Given the description of an element on the screen output the (x, y) to click on. 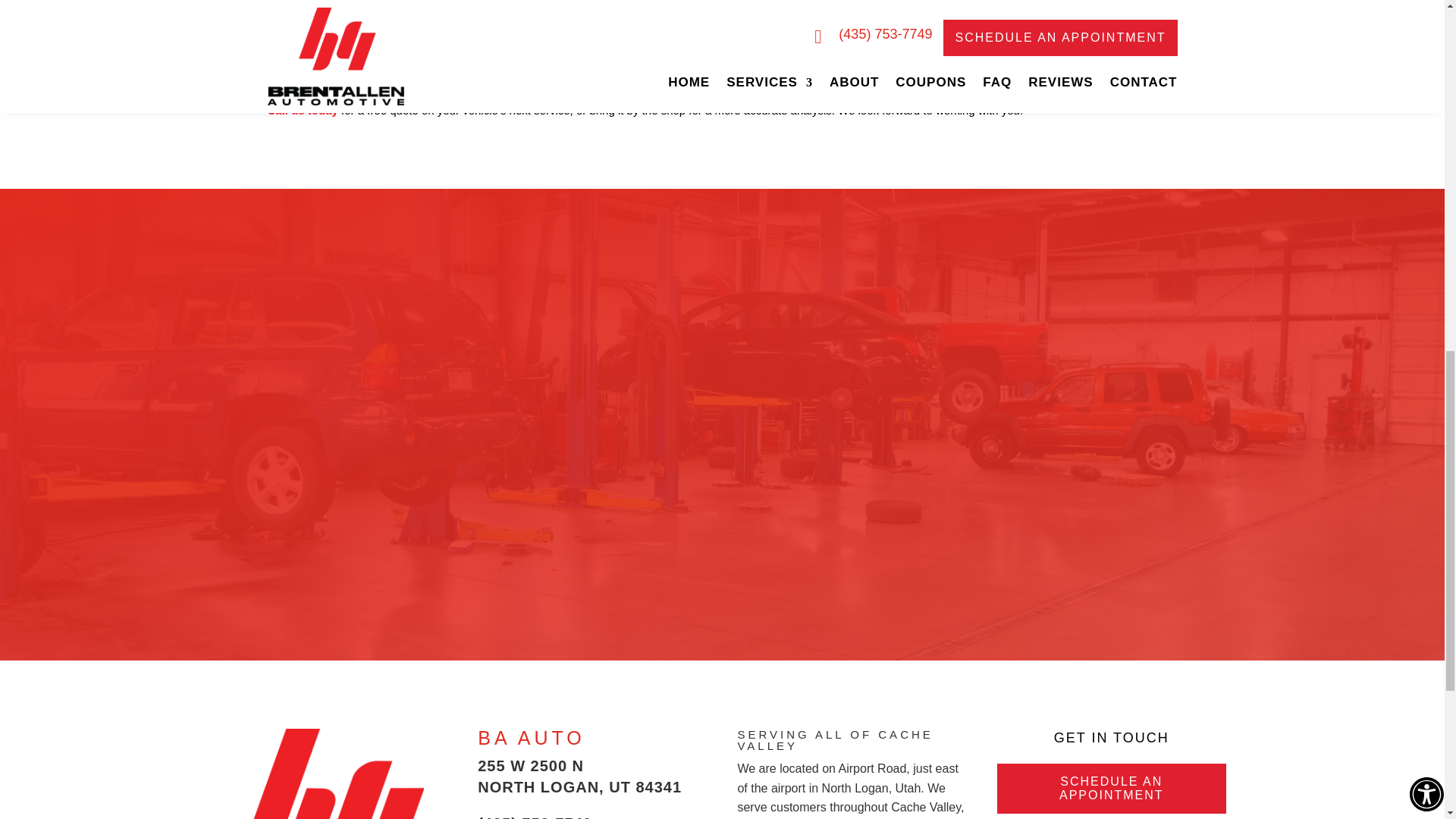
ba-auto-logan-utah-auto-repair-logo (333, 773)
